Given the description of an element on the screen output the (x, y) to click on. 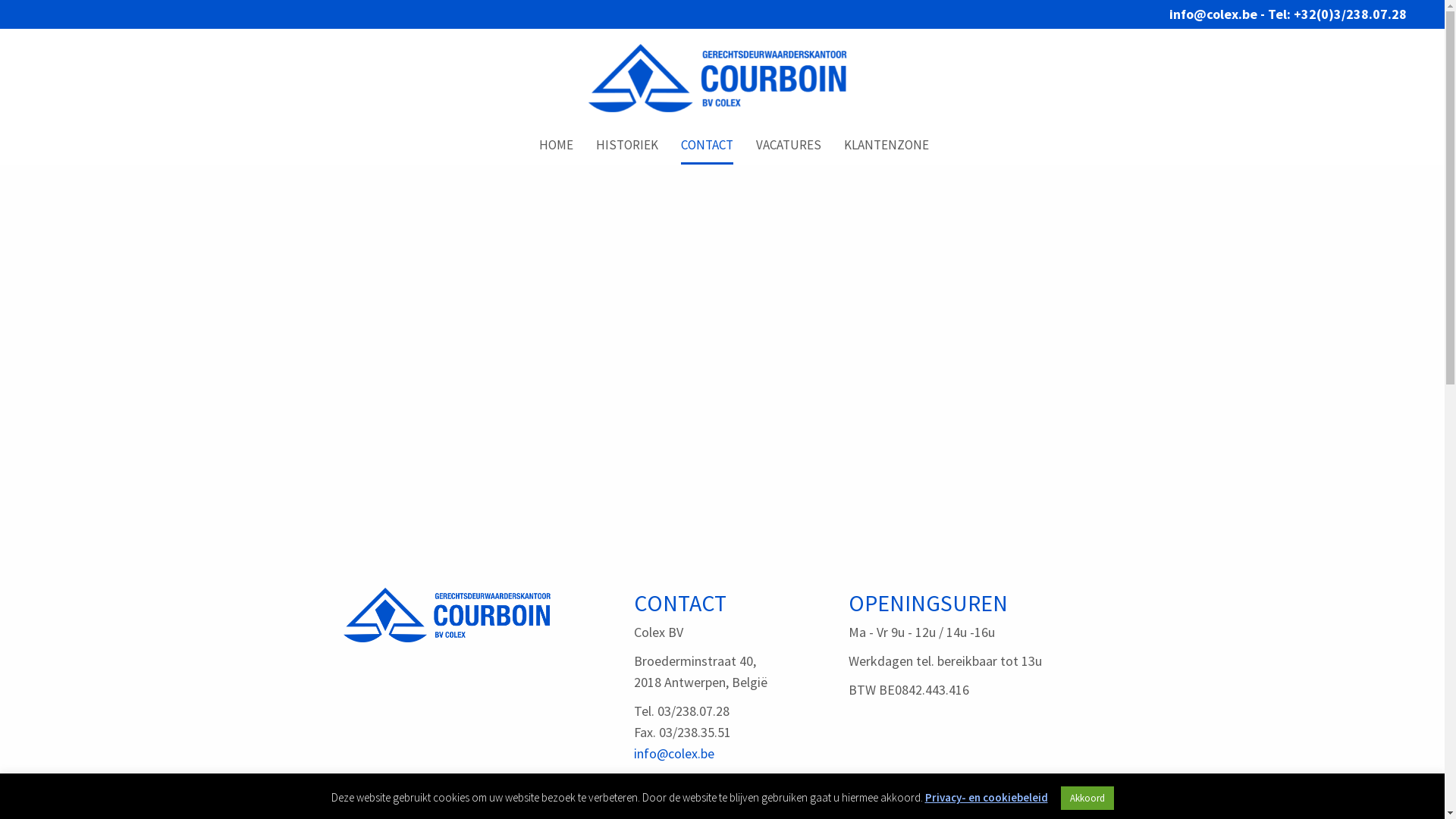
+32(0)3/238.07.28 Element type: text (1349, 13)
CONTACT Element type: text (706, 145)
Privacy- en cookiebeleid Element type: text (986, 797)
HISTORIEK Element type: text (627, 145)
info@colex.be Element type: text (1213, 13)
Akkoord Element type: text (1086, 797)
HOME Element type: text (555, 145)
KLANTENZONE Element type: text (885, 145)
info@colex.be Element type: text (673, 753)
VACATURES Element type: text (787, 145)
